Given the description of an element on the screen output the (x, y) to click on. 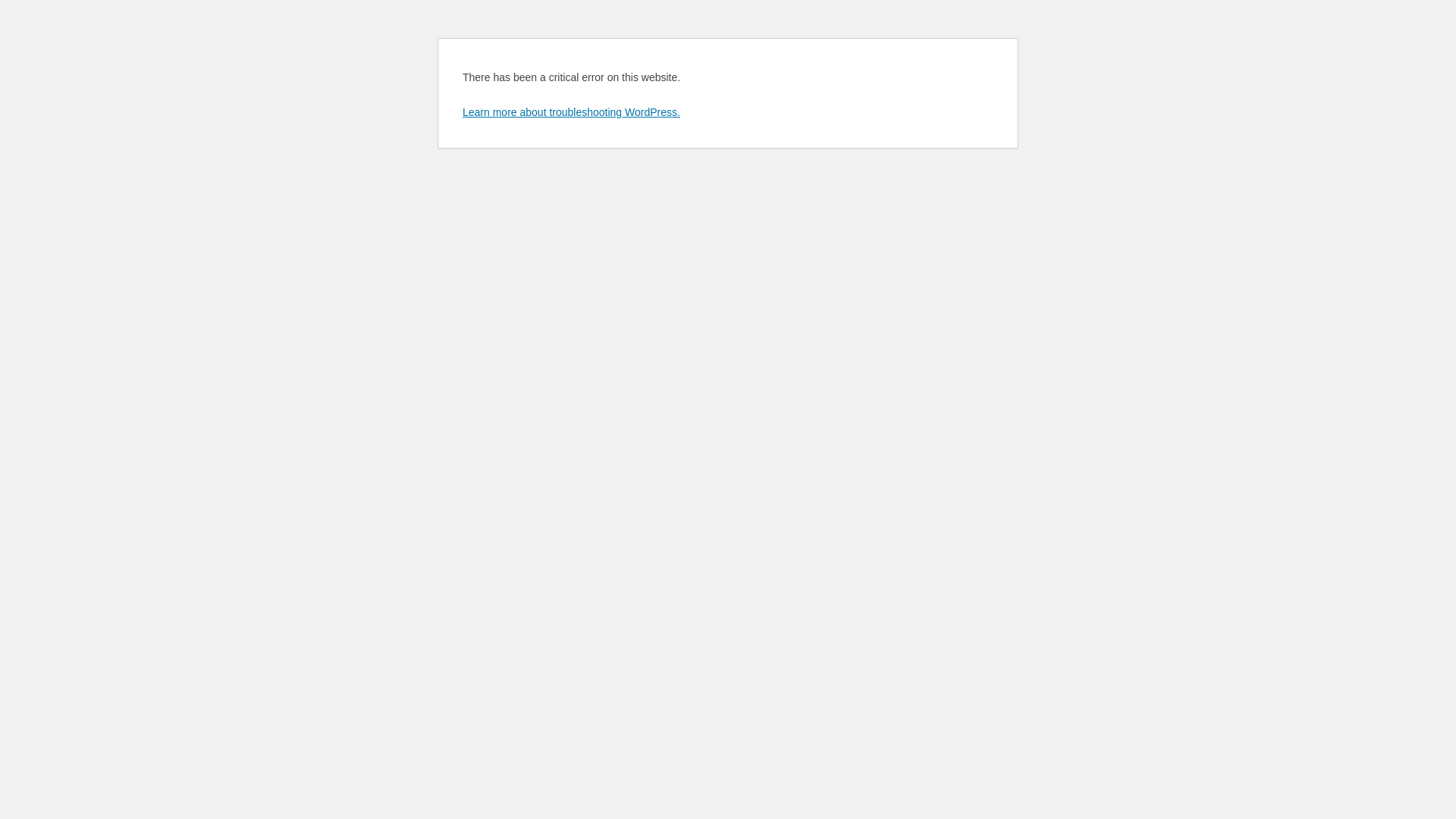
Learn more about troubleshooting WordPress. Element type: text (571, 112)
